Given the description of an element on the screen output the (x, y) to click on. 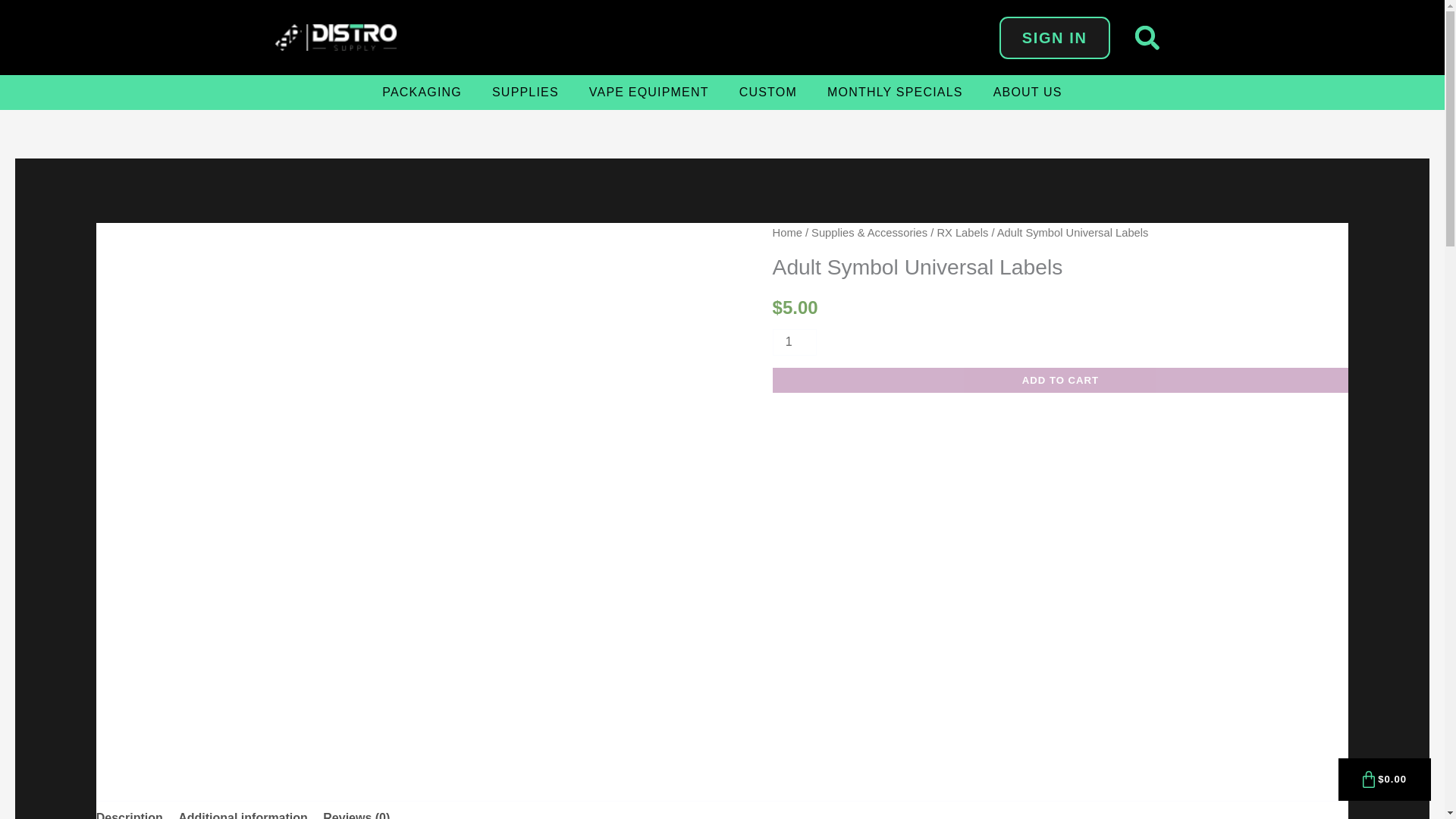
1 (794, 342)
SUPPLIES (525, 92)
VAPE EQUIPMENT (648, 92)
CUSTOM (767, 92)
SIGN IN (1053, 37)
PACKAGING (421, 92)
